Given the description of an element on the screen output the (x, y) to click on. 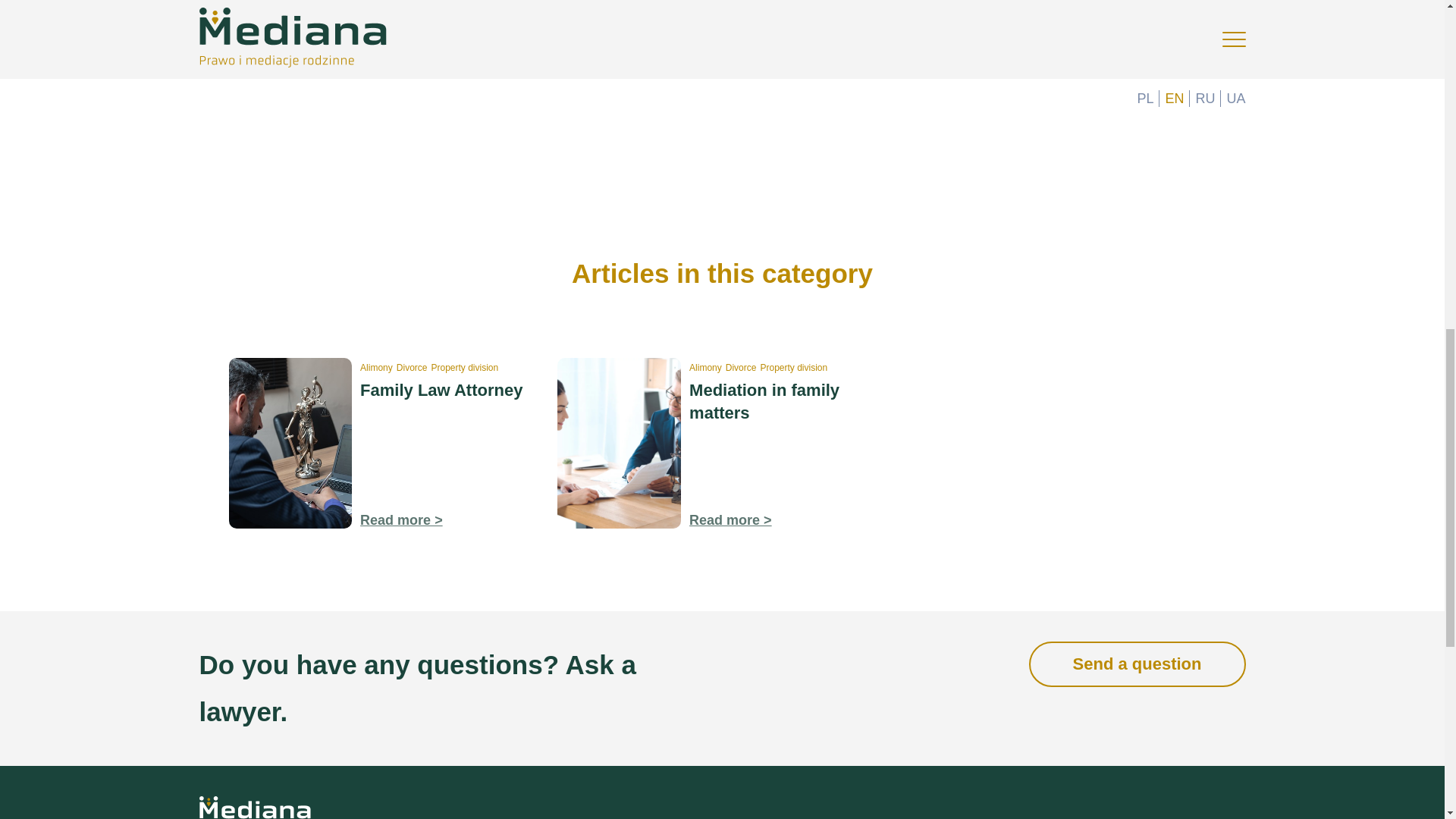
Mediation in family matters (729, 519)
Mediation in family matters (764, 401)
Family Law Attorney (440, 389)
Family Law Attorney (400, 519)
Send a question (1137, 664)
